Given the description of an element on the screen output the (x, y) to click on. 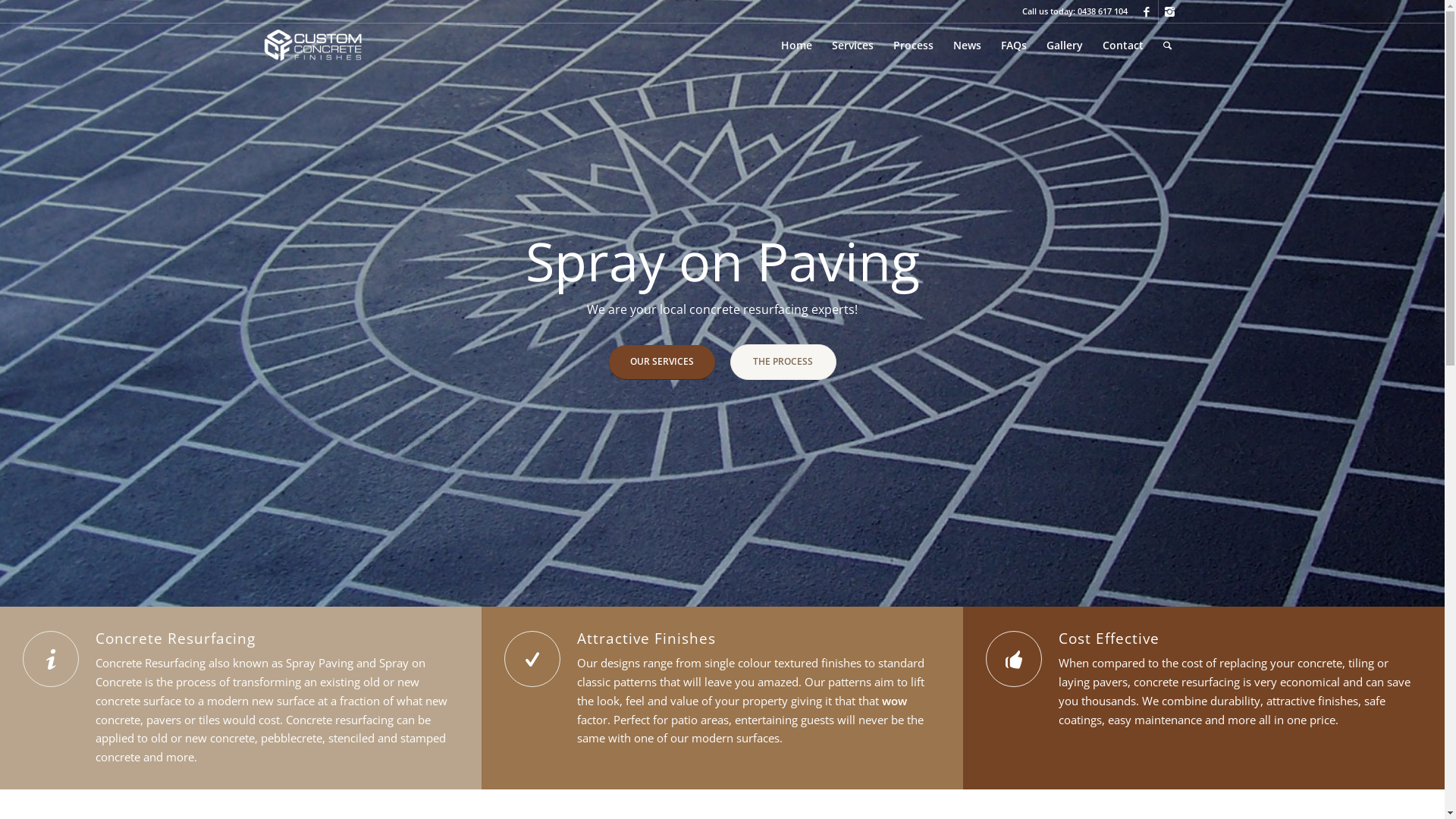
Instagram Element type: hover (1169, 11)
Process Element type: text (912, 45)
Services Element type: text (852, 45)
THE PROCESS Element type: text (782, 361)
Contact Element type: text (1122, 45)
Home Element type: text (795, 45)
Gallery Element type: text (1063, 45)
FAQs Element type: text (1012, 45)
Custom-Concrete-Finishes-Spray-On-Paving-Slide-2 Element type: hover (722, 303)
News Element type: text (967, 45)
Facebook Element type: hover (1146, 11)
OUR SERVICES Element type: text (661, 362)
